Given the description of an element on the screen output the (x, y) to click on. 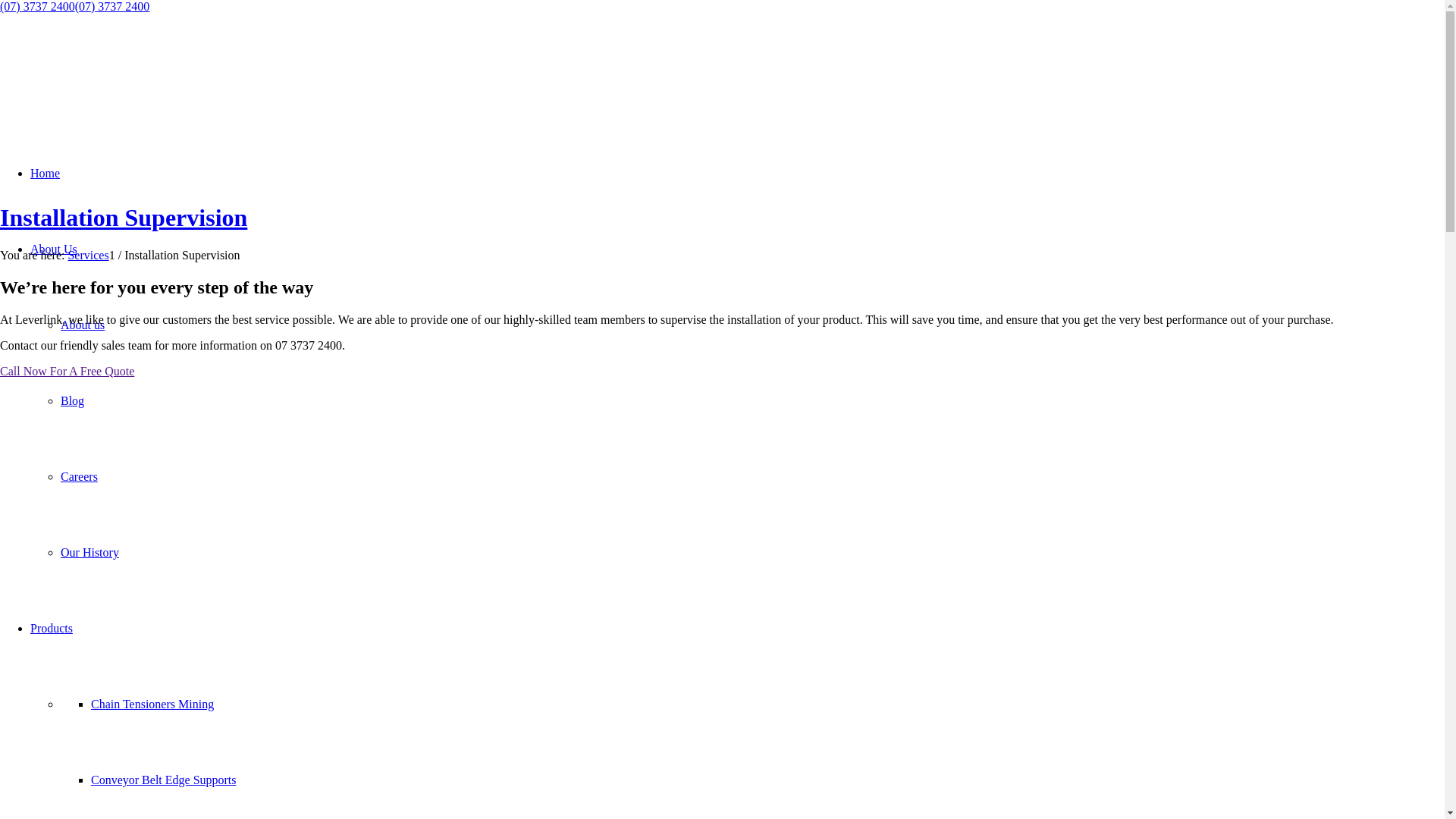
Careers Element type: text (78, 476)
About Us Element type: text (53, 248)
Installation Supervision Element type: text (123, 217)
Leverlink_newlogo Element type: hover (113, 84)
Products Element type: text (51, 627)
Our History Element type: text (89, 552)
Chain Tensioners Mining Element type: text (152, 703)
About us Element type: text (82, 324)
(07) 3737 2400 Element type: text (37, 6)
Conveyor Belt Edge Supports Element type: text (163, 779)
Home Element type: text (44, 172)
(07) 3737 2400 Element type: text (112, 6)
Services Element type: text (87, 254)
Call Now For A Free Quote Element type: text (67, 370)
Blog Element type: text (72, 400)
